Given the description of an element on the screen output the (x, y) to click on. 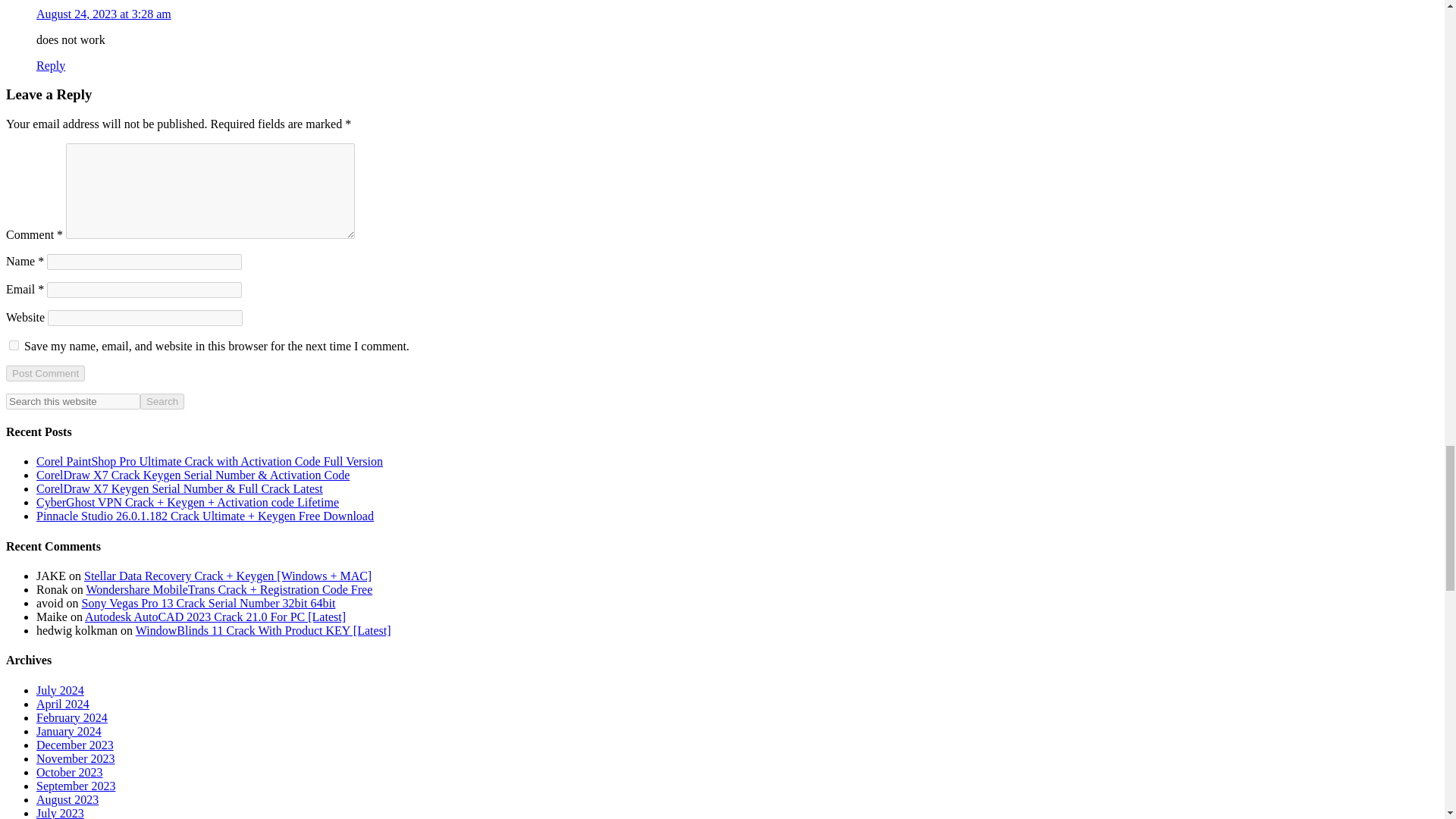
Post Comment (44, 373)
Post Comment (44, 373)
Search (161, 401)
Search (161, 401)
Reply (50, 65)
yes (13, 345)
August 24, 2023 at 3:28 am (103, 13)
Search (161, 401)
